Given the description of an element on the screen output the (x, y) to click on. 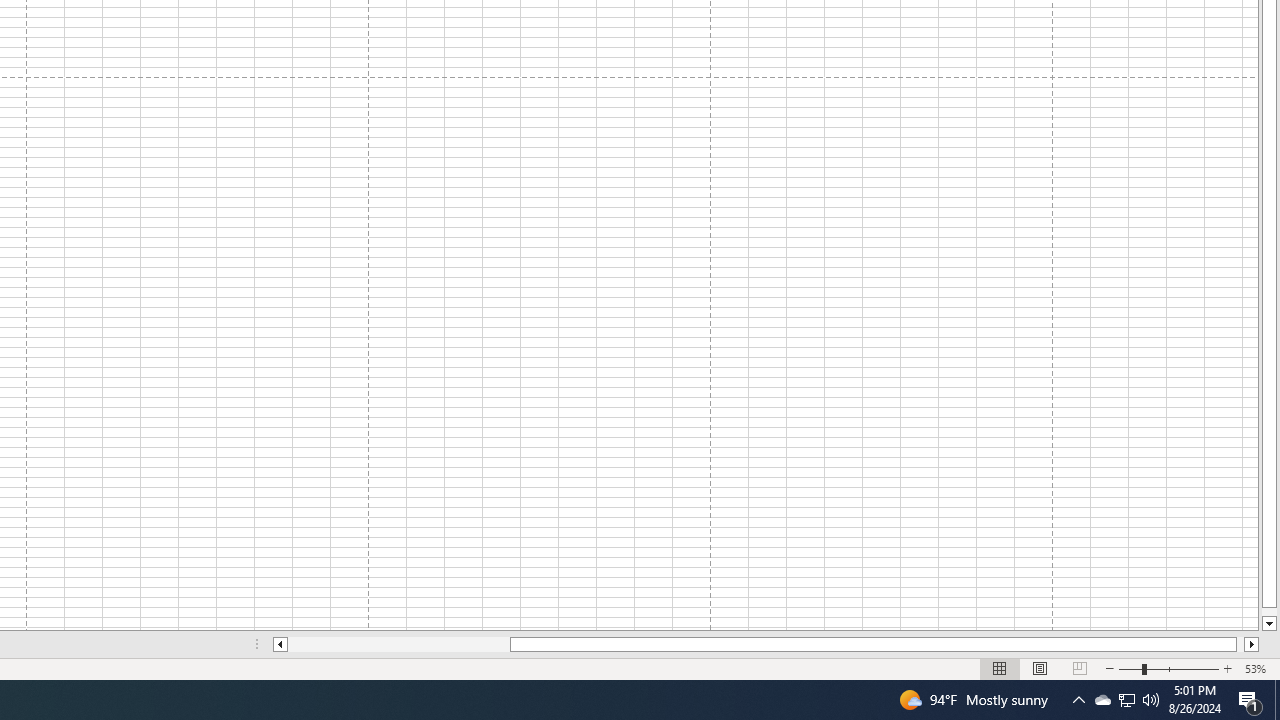
Line down (1268, 624)
Column left (279, 644)
Zoom (1168, 668)
Page left (398, 644)
Zoom In (1227, 668)
Page right (1240, 644)
Page Break Preview (1079, 668)
Page down (1268, 611)
Column right (1252, 644)
Class: NetUIScrollBar (765, 644)
Zoom Out (1129, 668)
